Given the description of an element on the screen output the (x, y) to click on. 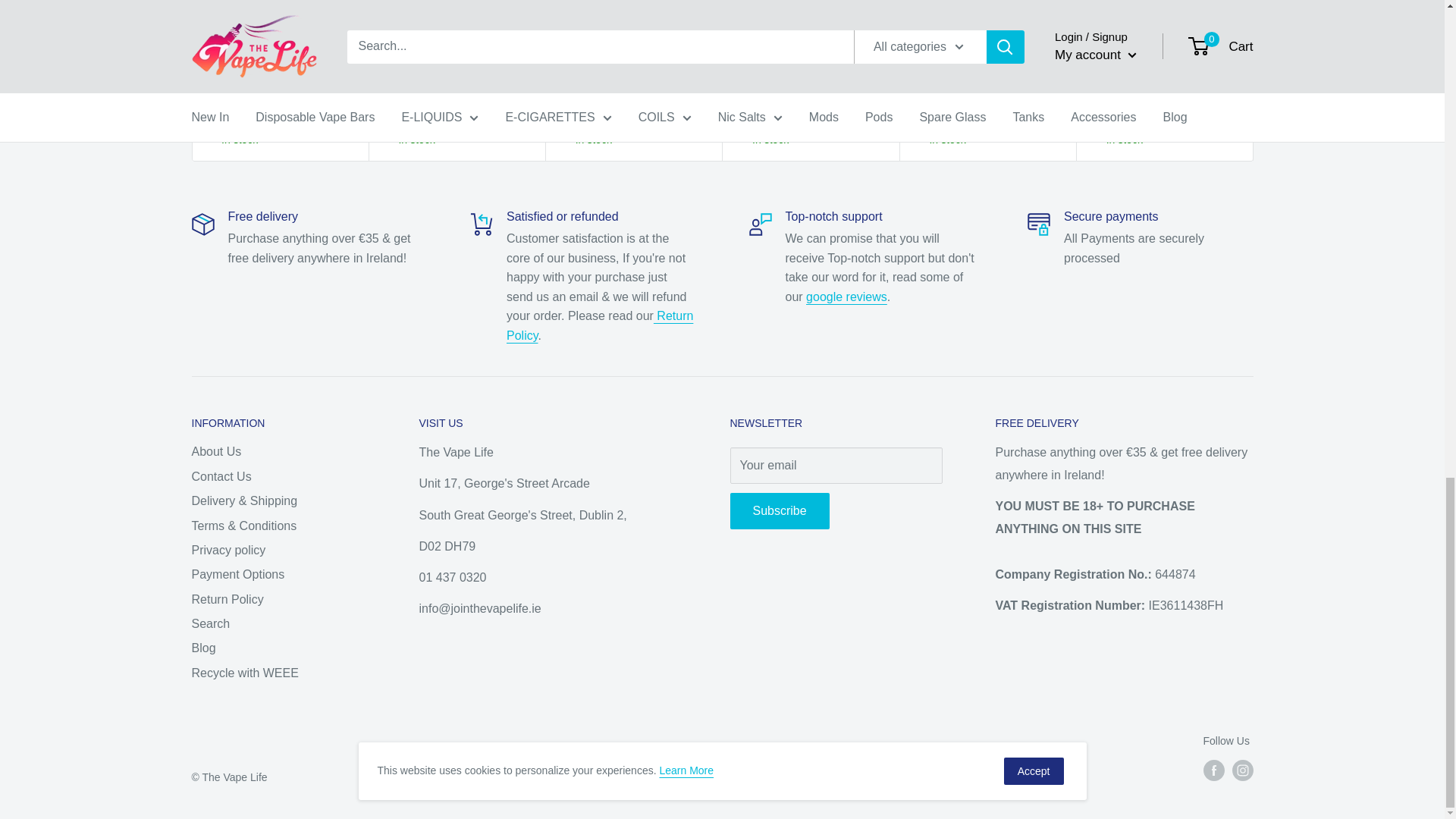
Return Policy (599, 325)
